Given the description of an element on the screen output the (x, y) to click on. 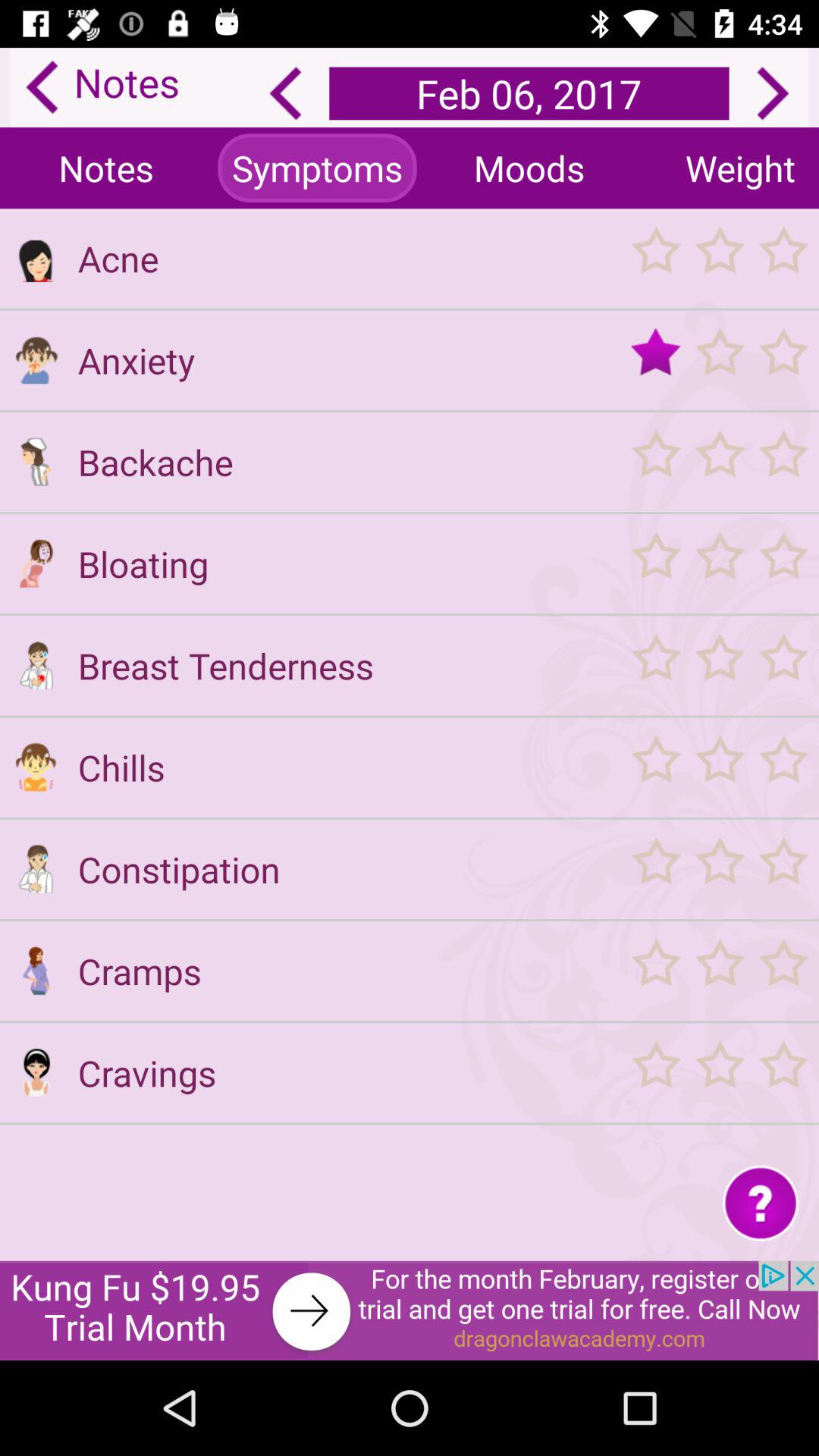
click to see symptoms for cramps (35, 970)
